Given the description of an element on the screen output the (x, y) to click on. 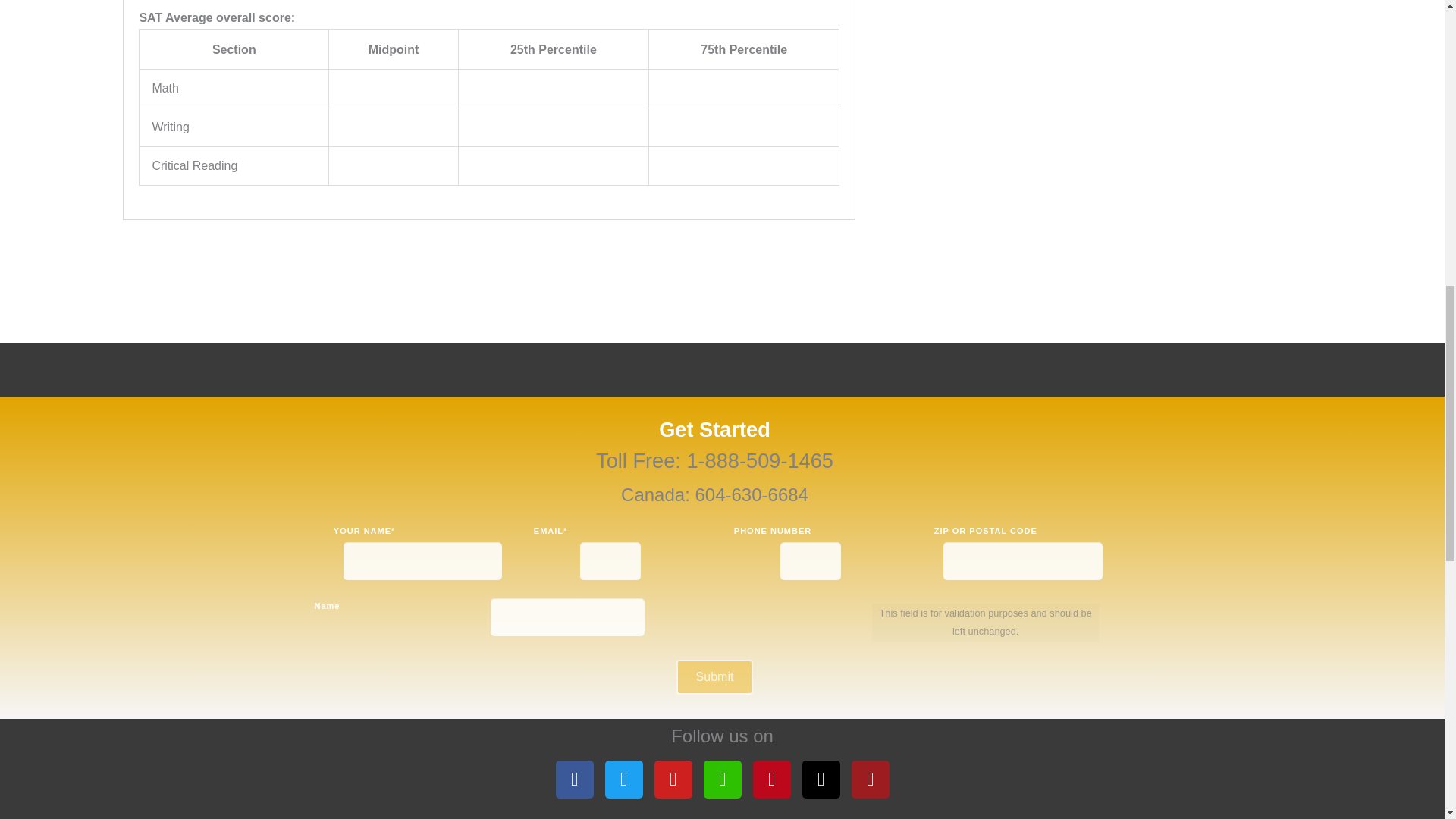
Submit (715, 677)
